Given the description of an element on the screen output the (x, y) to click on. 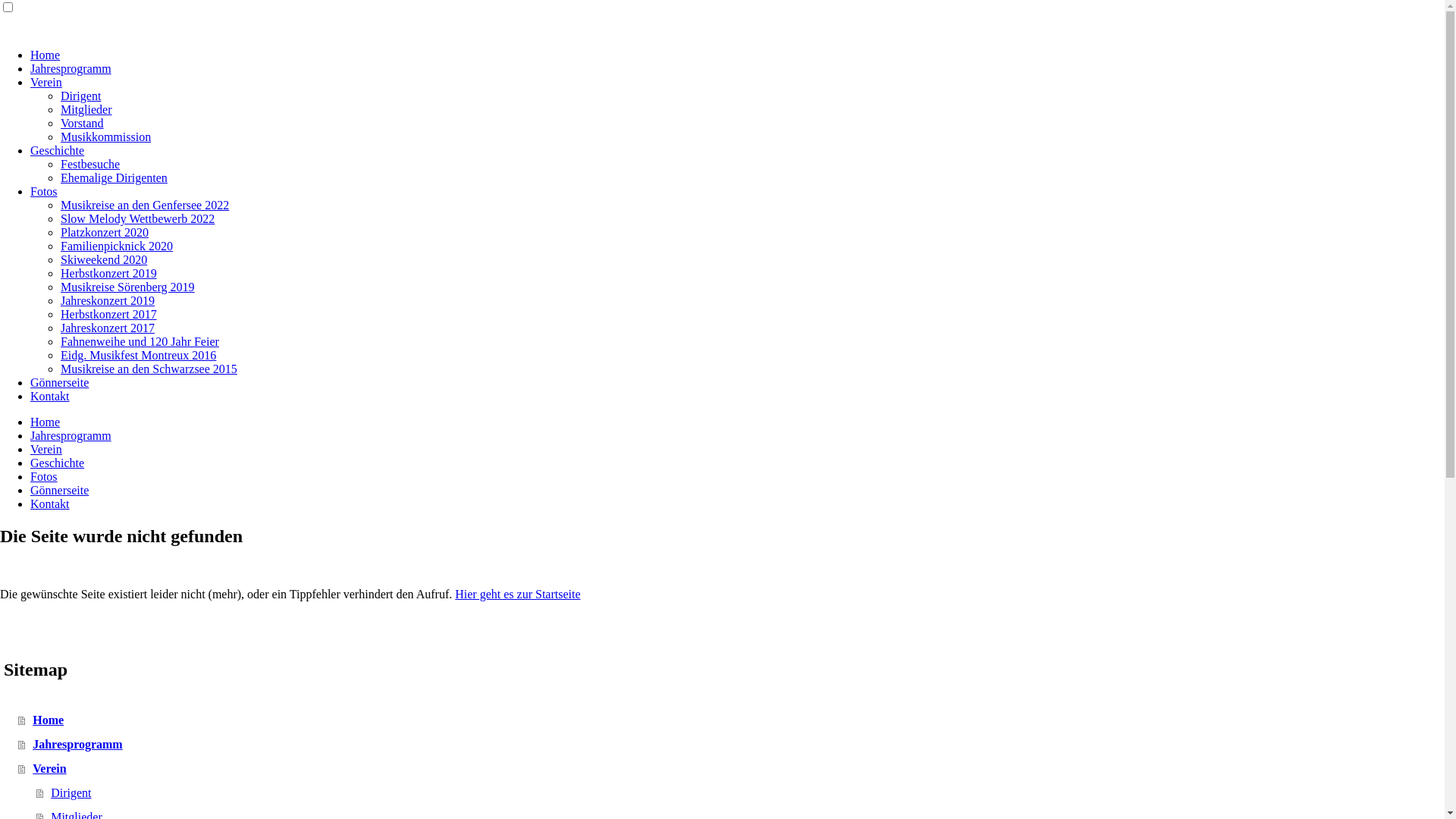
Home Element type: text (731, 720)
Verein Element type: text (46, 448)
Home Element type: text (44, 421)
Home Element type: text (44, 54)
Kontakt Element type: text (49, 395)
Verein Element type: text (731, 768)
Musikkommission Element type: text (105, 136)
Jahresprogramm Element type: text (731, 744)
Herbstkonzert 2017 Element type: text (108, 313)
Jahresprogramm Element type: text (70, 435)
Festbesuche Element type: text (89, 163)
Kontakt Element type: text (49, 503)
Platzkonzert 2020 Element type: text (104, 231)
Musikreise an den Schwarzsee 2015 Element type: text (148, 368)
Jahreskonzert 2019 Element type: text (107, 300)
Fotos Element type: text (43, 476)
Geschichte Element type: text (57, 150)
Eidg. Musikfest Montreux 2016 Element type: text (138, 354)
Verein Element type: text (46, 81)
Fahnenweihe und 120 Jahr Feier Element type: text (139, 341)
Jahresprogramm Element type: text (70, 68)
Slow Melody Wettbewerb 2022 Element type: text (137, 218)
Musikreise an den Genfersee 2022 Element type: text (144, 204)
Geschichte Element type: text (57, 462)
Ehemalige Dirigenten Element type: text (113, 177)
Vorstand Element type: text (81, 122)
Hier geht es zur Startseite Element type: text (517, 593)
Dirigent Element type: text (740, 793)
Dirigent Element type: text (80, 95)
Jahreskonzert 2017 Element type: text (107, 327)
Skiweekend 2020 Element type: text (103, 259)
Familienpicknick 2020 Element type: text (116, 245)
Fotos Element type: text (43, 191)
Mitglieder Element type: text (86, 109)
Herbstkonzert 2019 Element type: text (108, 272)
